Given the description of an element on the screen output the (x, y) to click on. 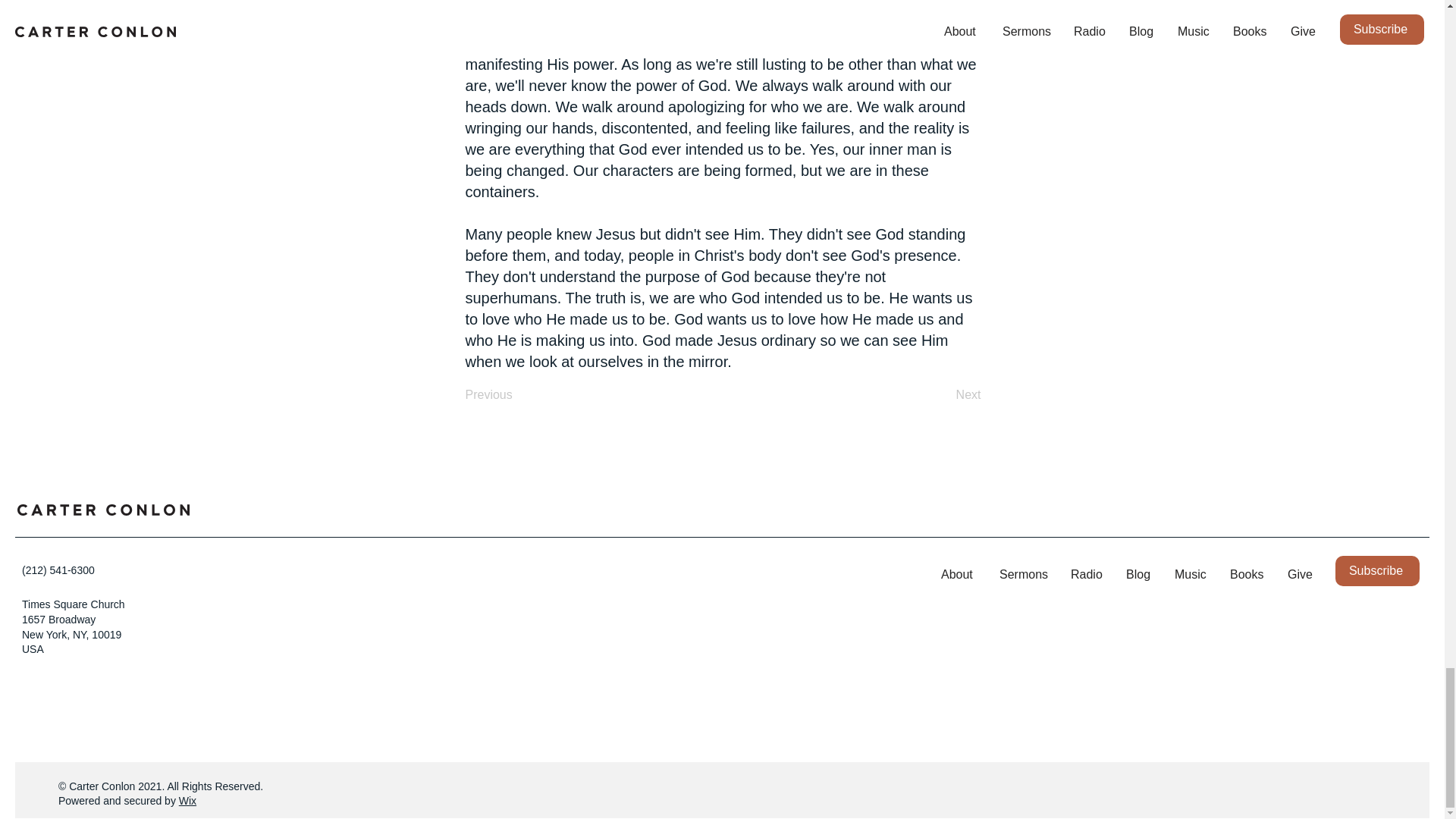
Books (1247, 574)
Next (943, 395)
Music (1190, 574)
Give (1299, 574)
Previous (515, 395)
Wix (187, 800)
Sermons (1023, 574)
Radio (1087, 574)
About (959, 574)
Subscribe (1377, 571)
